Given the description of an element on the screen output the (x, y) to click on. 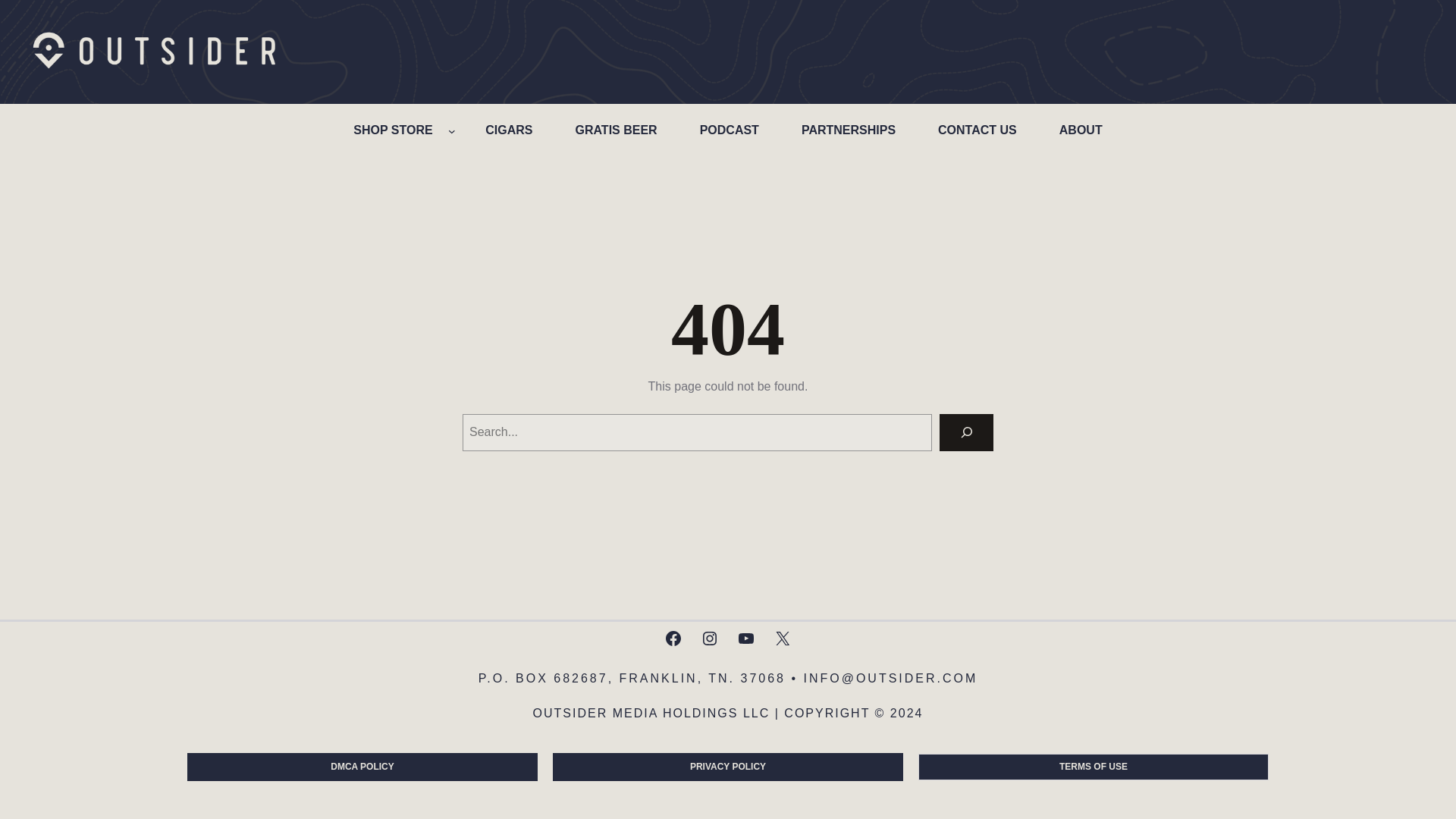
PODCAST (729, 130)
GRATIS BEER (615, 130)
SHOP STORE (392, 130)
ABOUT (1080, 130)
CONTACT US (977, 130)
Instagram (709, 638)
CIGARS (508, 130)
PARTNERSHIPS (848, 130)
PRIVACY POLICY (727, 766)
X (782, 638)
DMCA POLICY (362, 766)
YouTube (745, 638)
TERMS OF USE (1093, 766)
Facebook (672, 638)
